Given the description of an element on the screen output the (x, y) to click on. 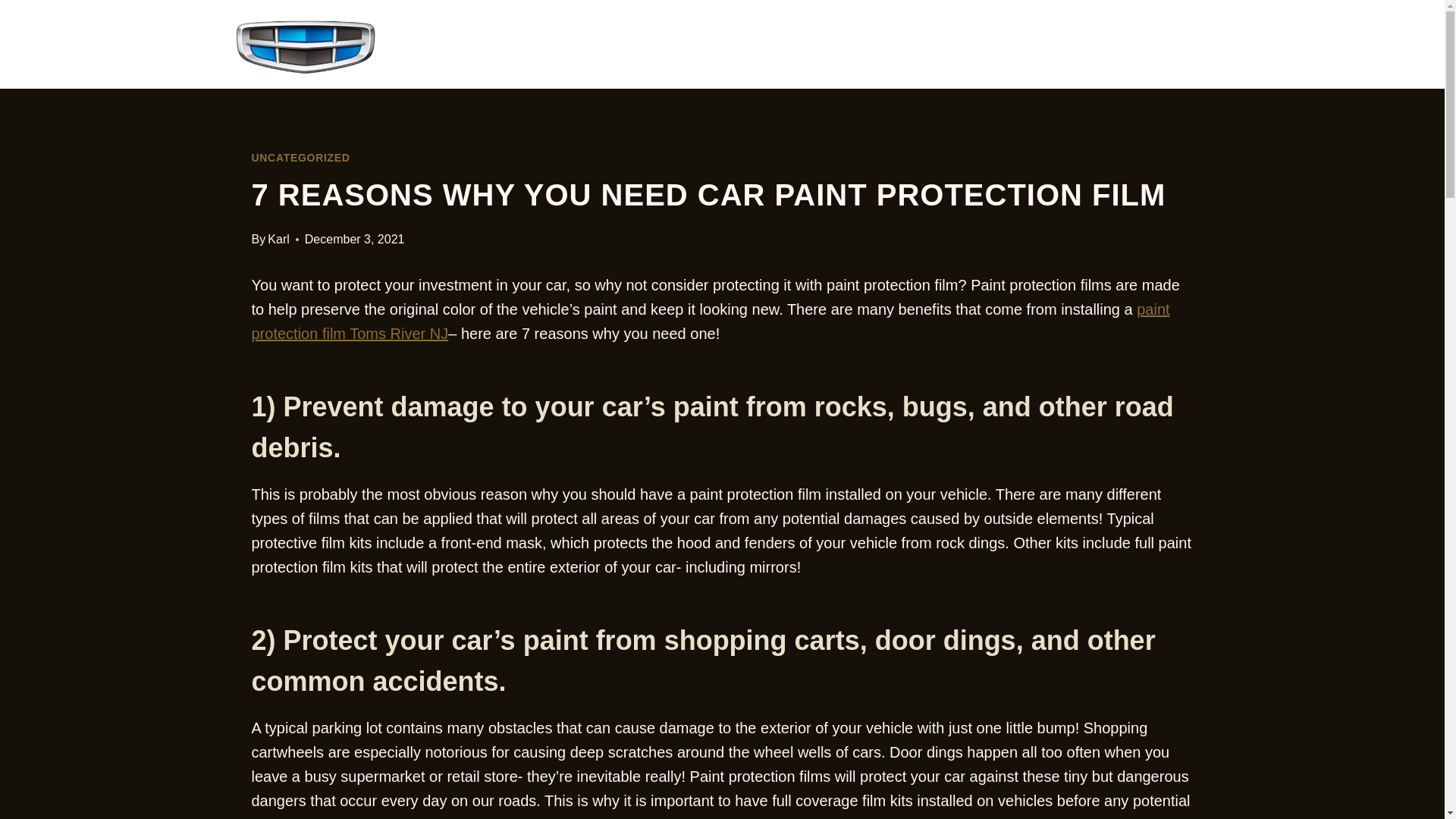
UNCATEGORIZED (300, 157)
paint protection film Toms River NJ (710, 321)
Karl (277, 238)
Xtream Auto Shop (450, 46)
HOME (966, 43)
ABOUT (1067, 43)
BLOG (1166, 43)
